Given the description of an element on the screen output the (x, y) to click on. 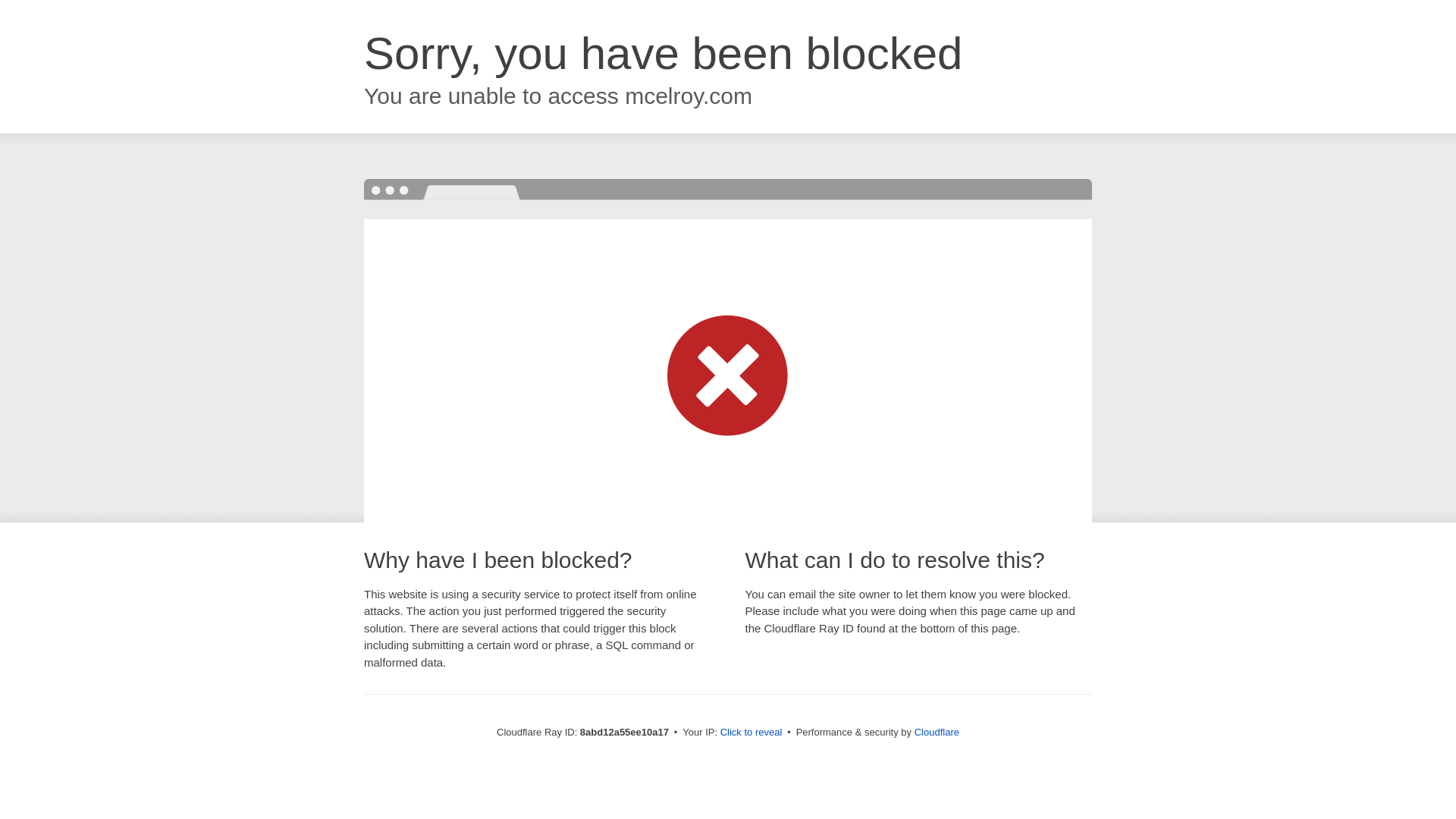
Click to reveal (751, 732)
Cloudflare (936, 731)
